Given the description of an element on the screen output the (x, y) to click on. 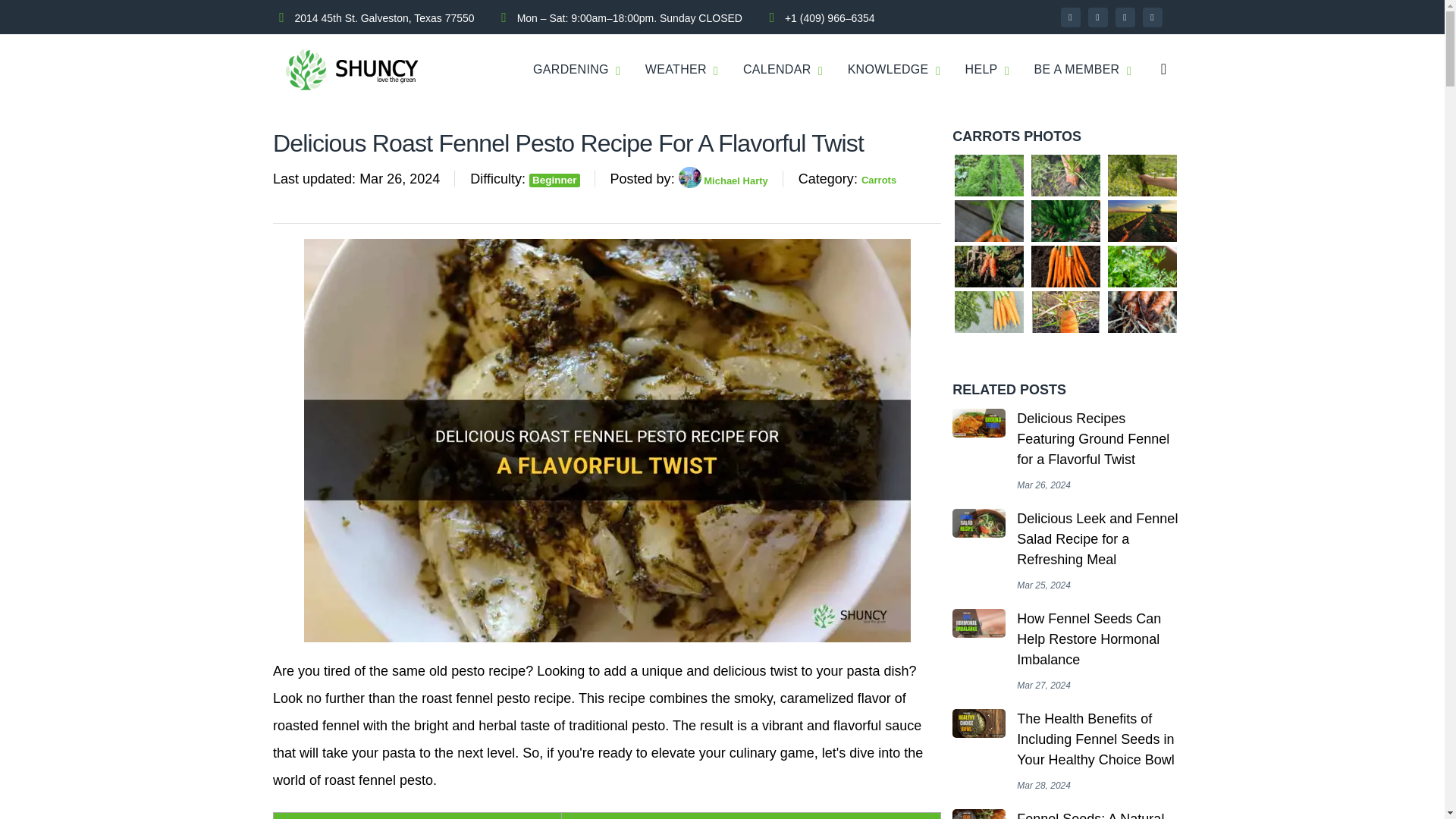
CALENDAR (776, 69)
GARDENING (570, 69)
WEATHER (675, 69)
2014 45th St. Galveston, Texas 77550 (384, 18)
BE A MEMBER (1076, 69)
KNOWLEDGE (887, 69)
HELP (981, 69)
